Given the description of an element on the screen output the (x, y) to click on. 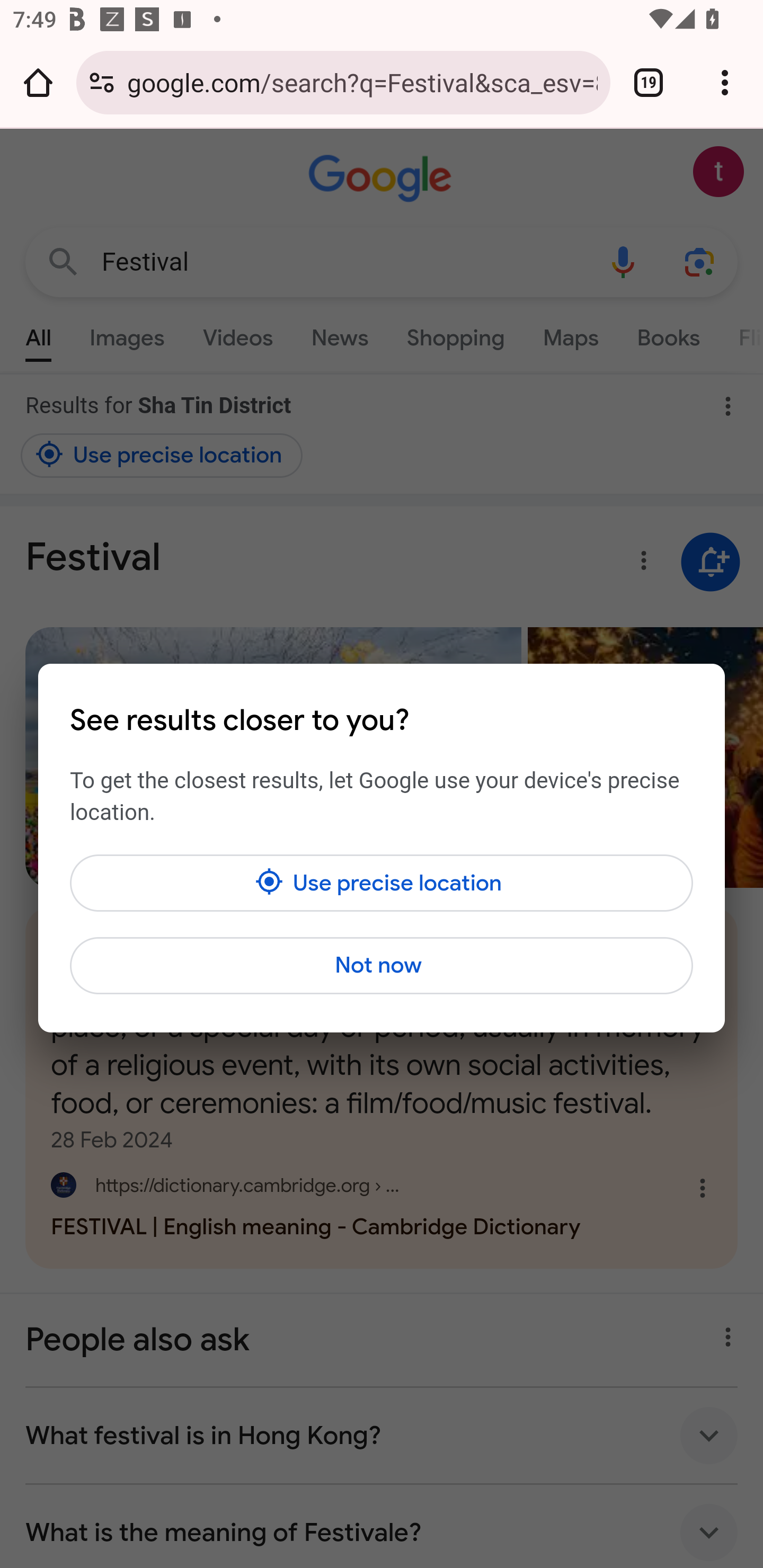
Open the home page (38, 82)
Connection is secure (101, 82)
Switch or close tabs (648, 82)
Customize and control Google Chrome (724, 82)
Use precise location (381, 882)
Not now (381, 965)
